Given the description of an element on the screen output the (x, y) to click on. 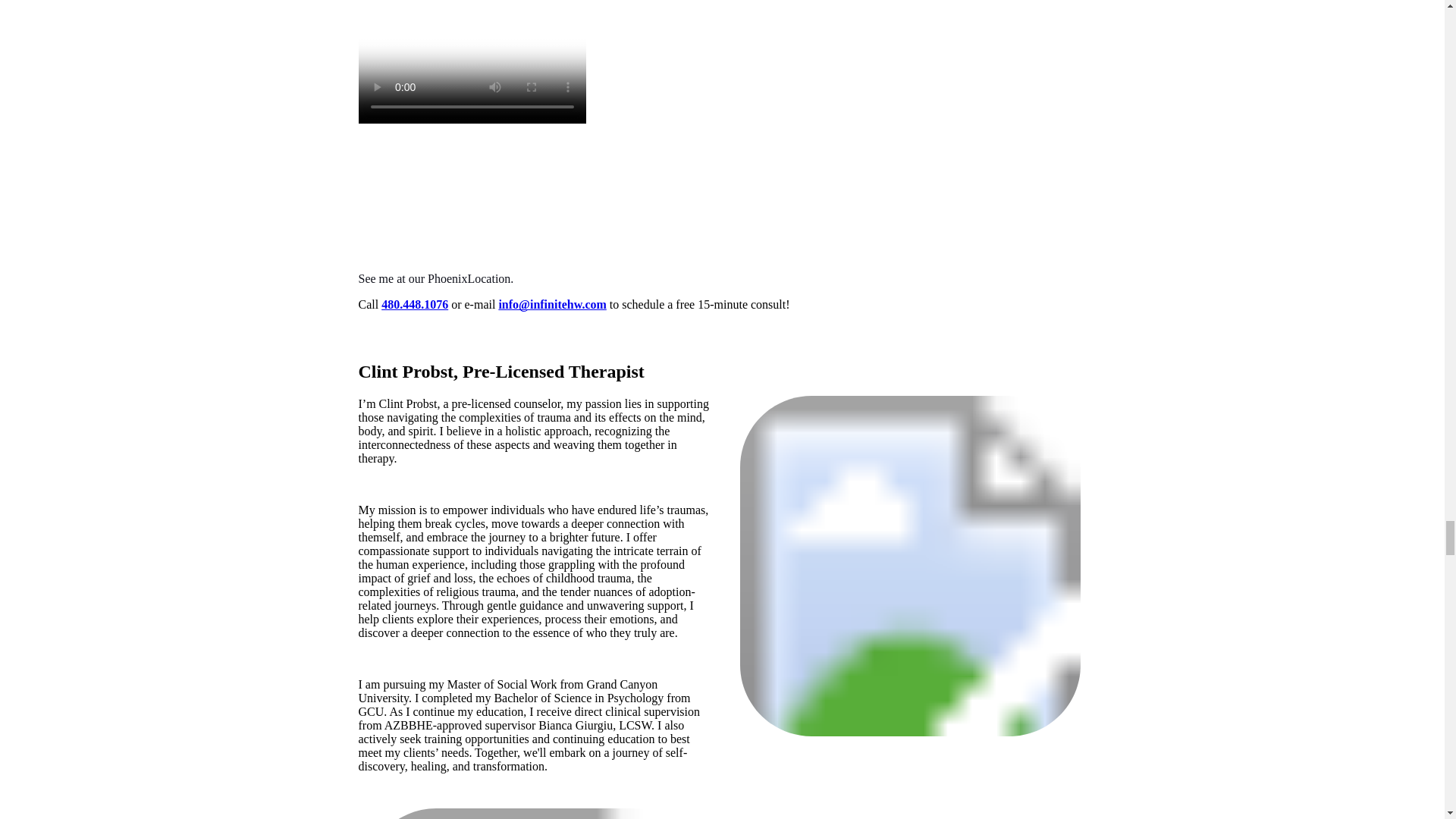
Brenda Stewart - Phoenix, AZ - Infinite Healing and Wellness (534, 813)
Clint Probst - Phoenix, AZ - Infinite Healing and Wellness (909, 565)
